Given the description of an element on the screen output the (x, y) to click on. 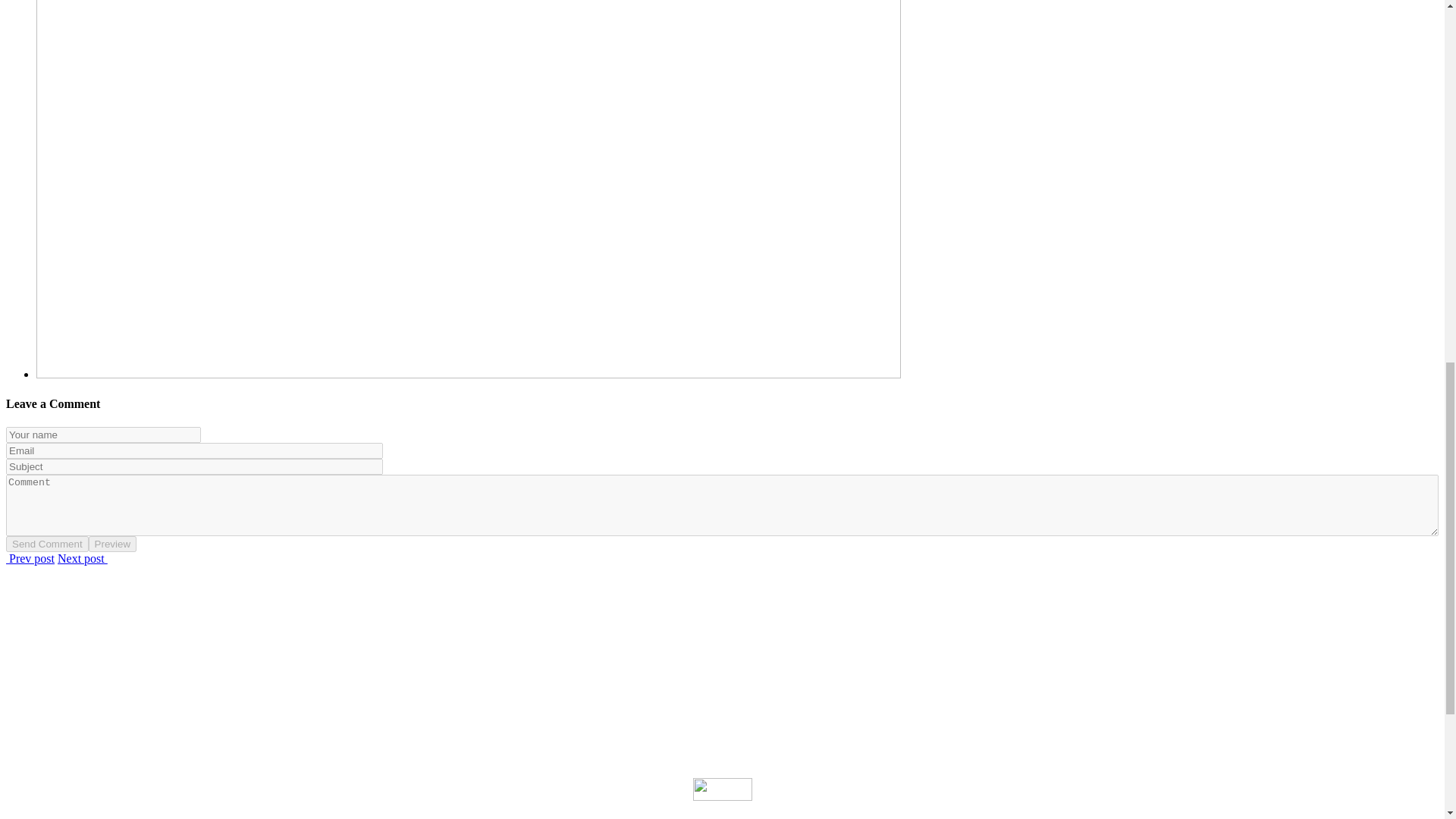
 Prev post (30, 558)
Preview (112, 544)
Next post  (82, 558)
Preview (112, 544)
Send Comment (46, 544)
Send Comment (46, 544)
